Given the description of an element on the screen output the (x, y) to click on. 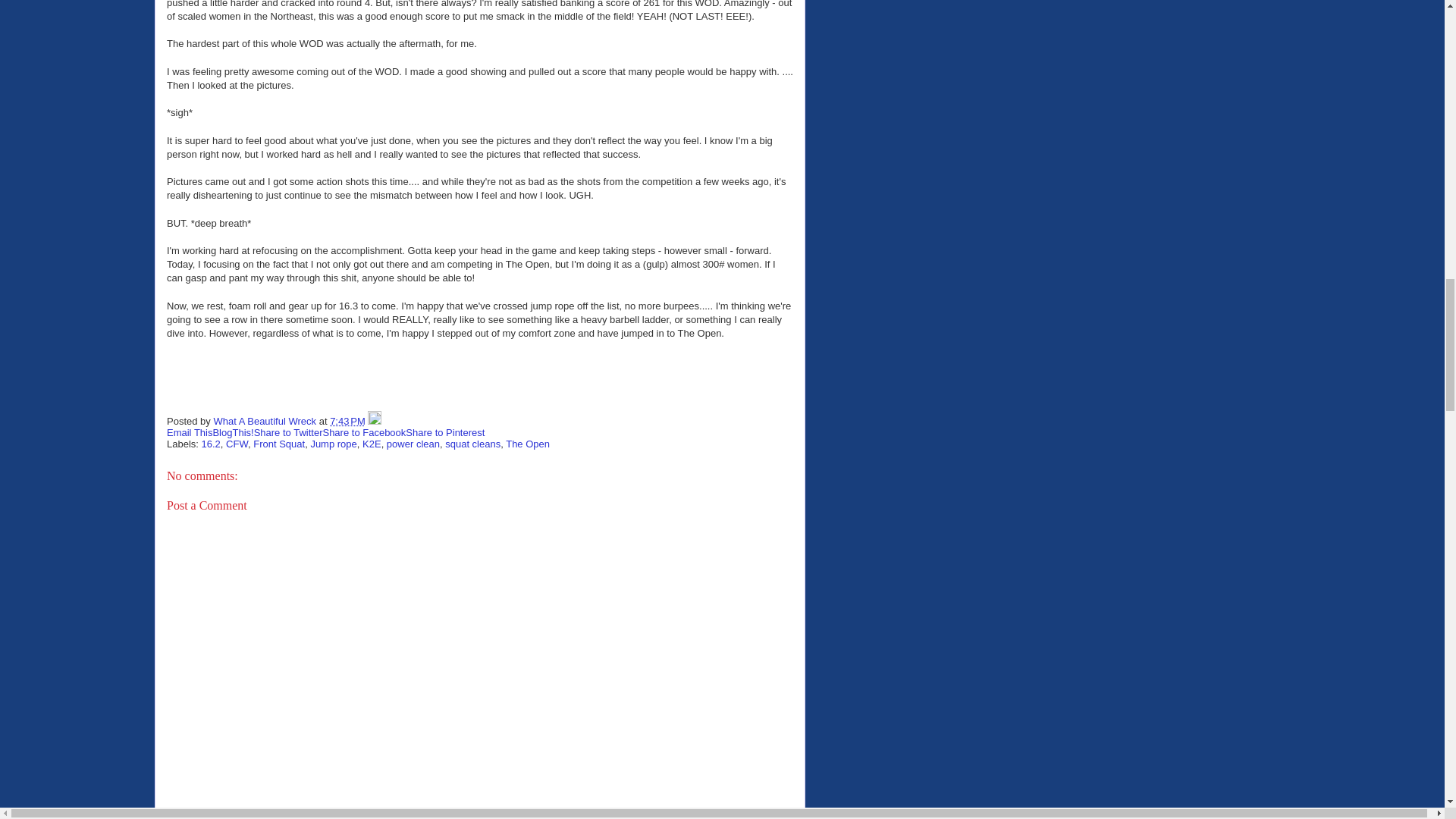
CFW (236, 443)
Email This (189, 432)
What A Beautiful Wreck (265, 420)
squat cleans (472, 443)
permanent link (347, 420)
Share to Pinterest (445, 432)
author profile (265, 420)
Jump rope (333, 443)
Email This (189, 432)
power clean (413, 443)
The Open (527, 443)
Share to Facebook (363, 432)
Share to Facebook (363, 432)
Share to Pinterest (445, 432)
